Given the description of an element on the screen output the (x, y) to click on. 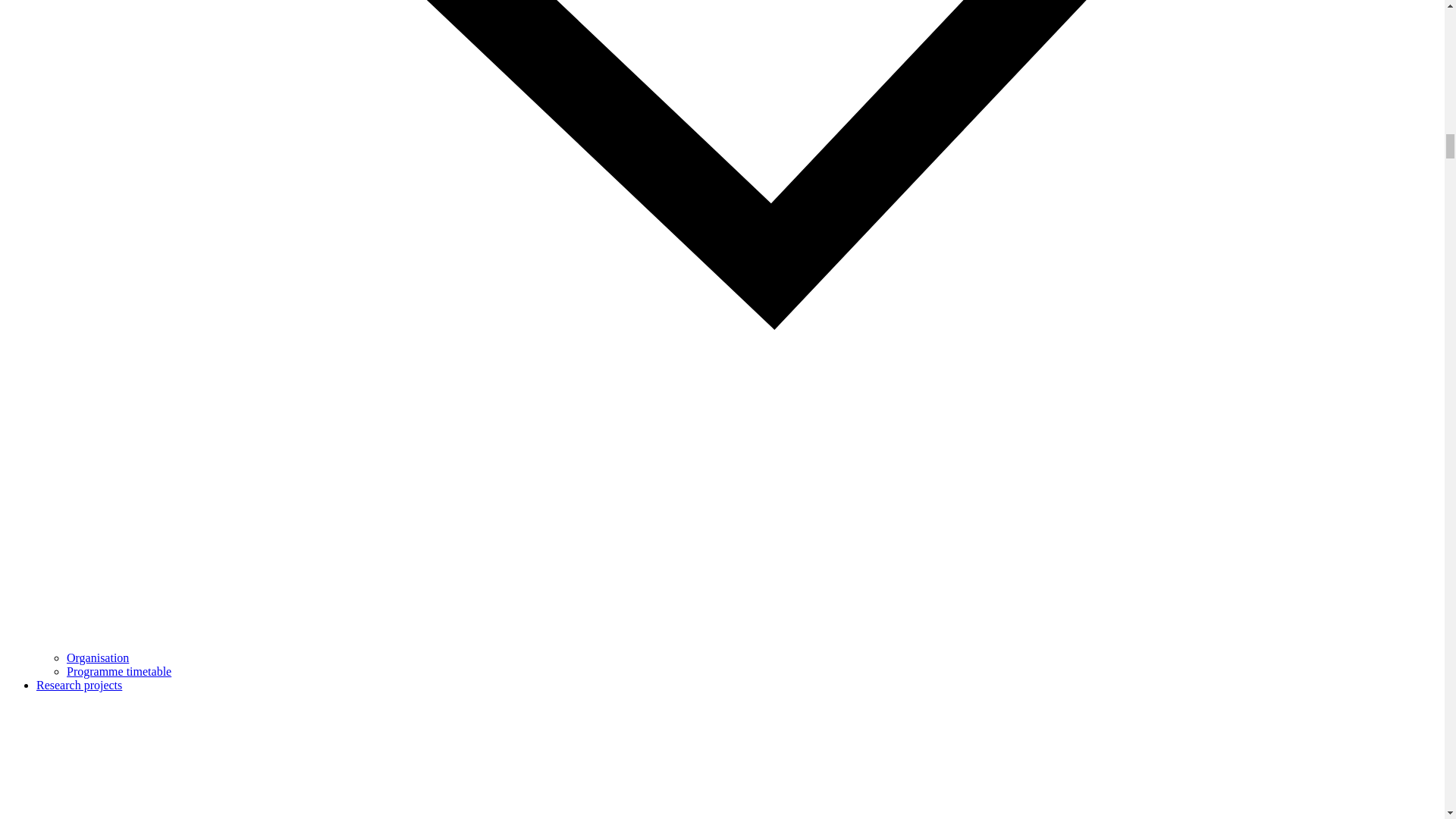
Programme timetable (118, 671)
Research projects (79, 684)
Organisation (97, 657)
